Given the description of an element on the screen output the (x, y) to click on. 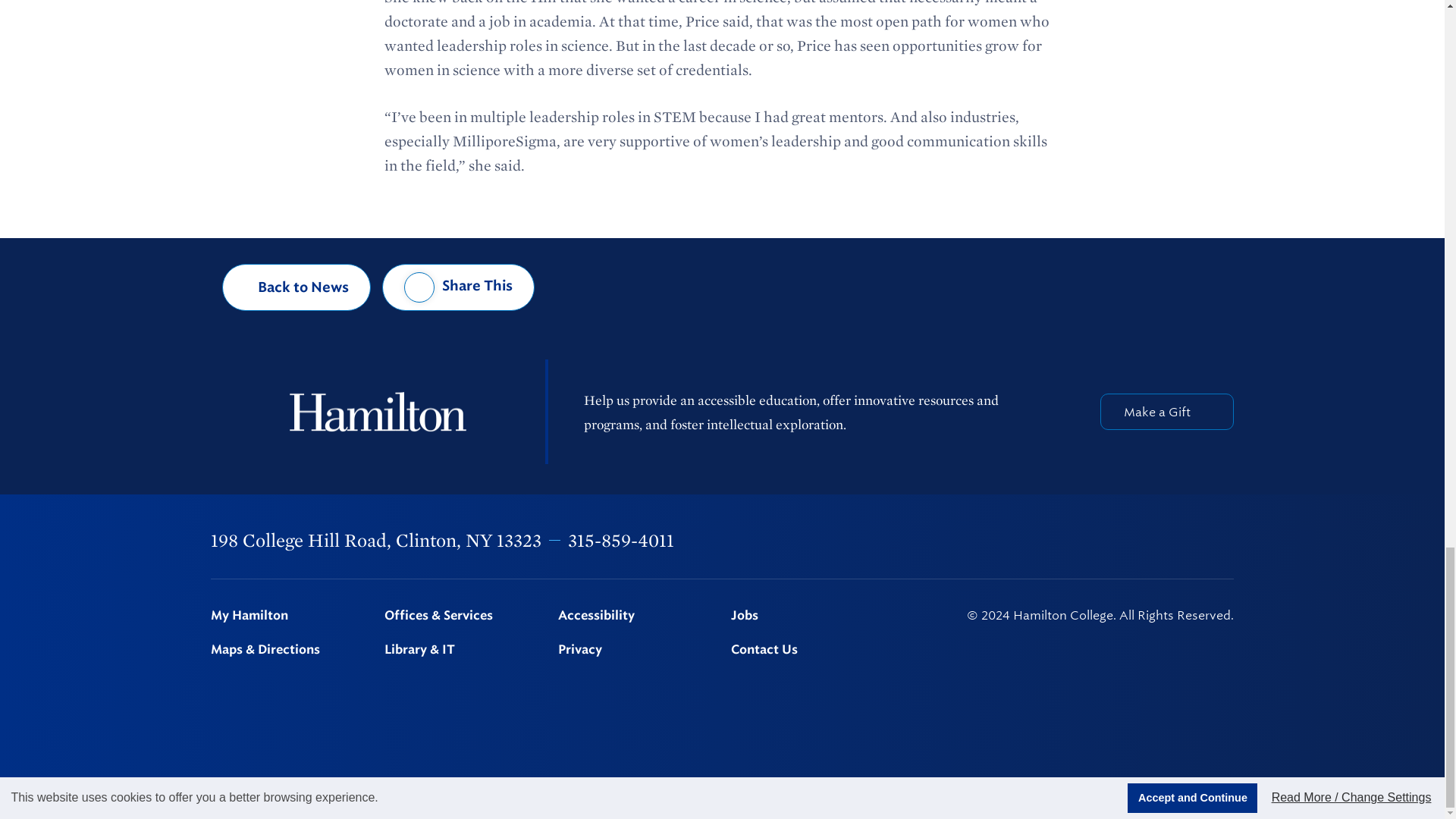
Instagram (1109, 540)
198 College Hill Road, Clinton, NY 13323 (375, 540)
315-859-4011 (620, 540)
Twitter (1069, 540)
Youtube (1188, 540)
TikTok (1226, 540)
Facebook (1029, 540)
Share This (457, 287)
Linkedin (1149, 540)
Make a Gift (1166, 411)
Back to News (296, 287)
